Given the description of an element on the screen output the (x, y) to click on. 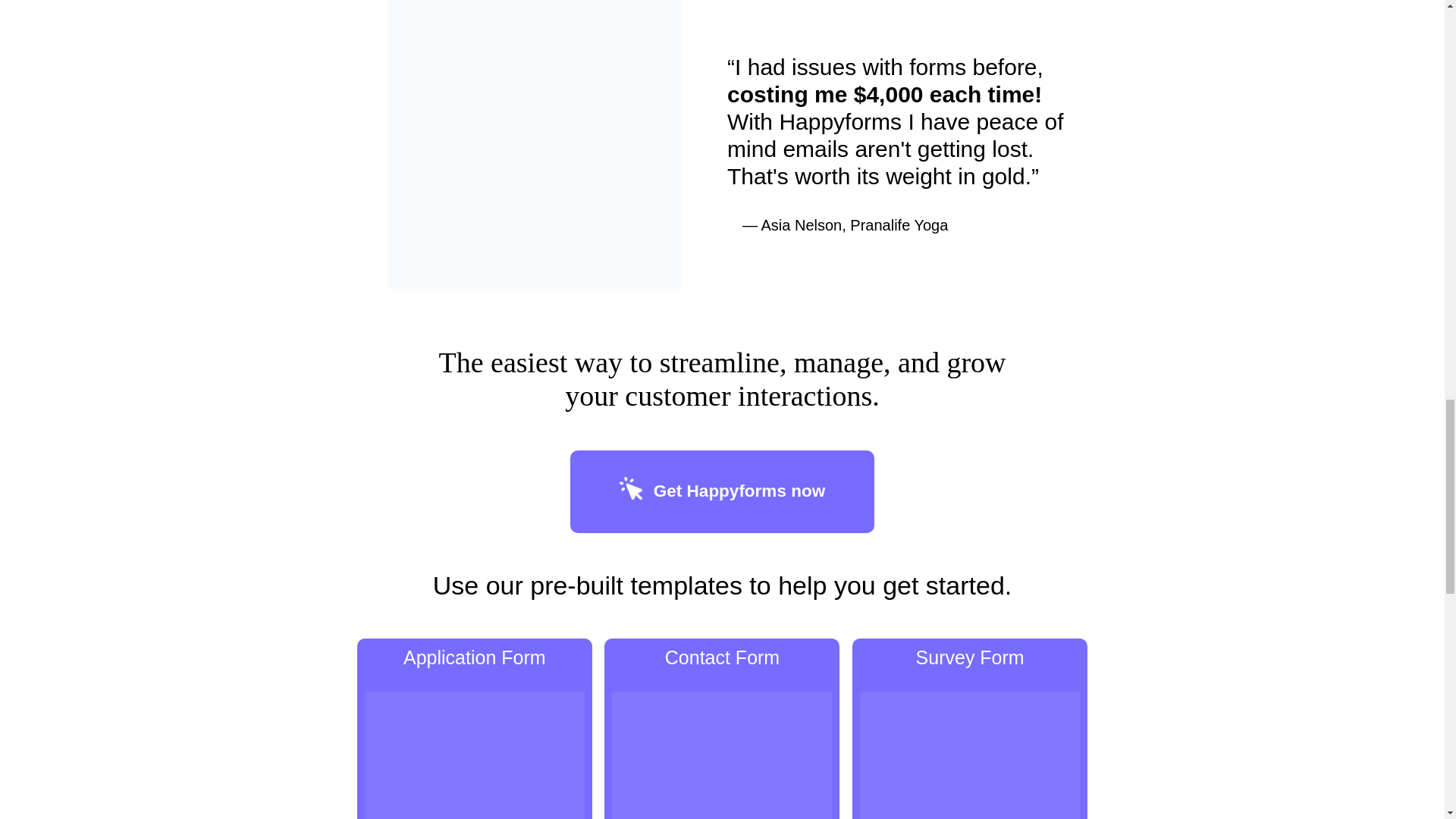
Contact Form (722, 728)
Survey Form (969, 728)
Application Form (474, 728)
Get Happyforms now (722, 491)
